Given the description of an element on the screen output the (x, y) to click on. 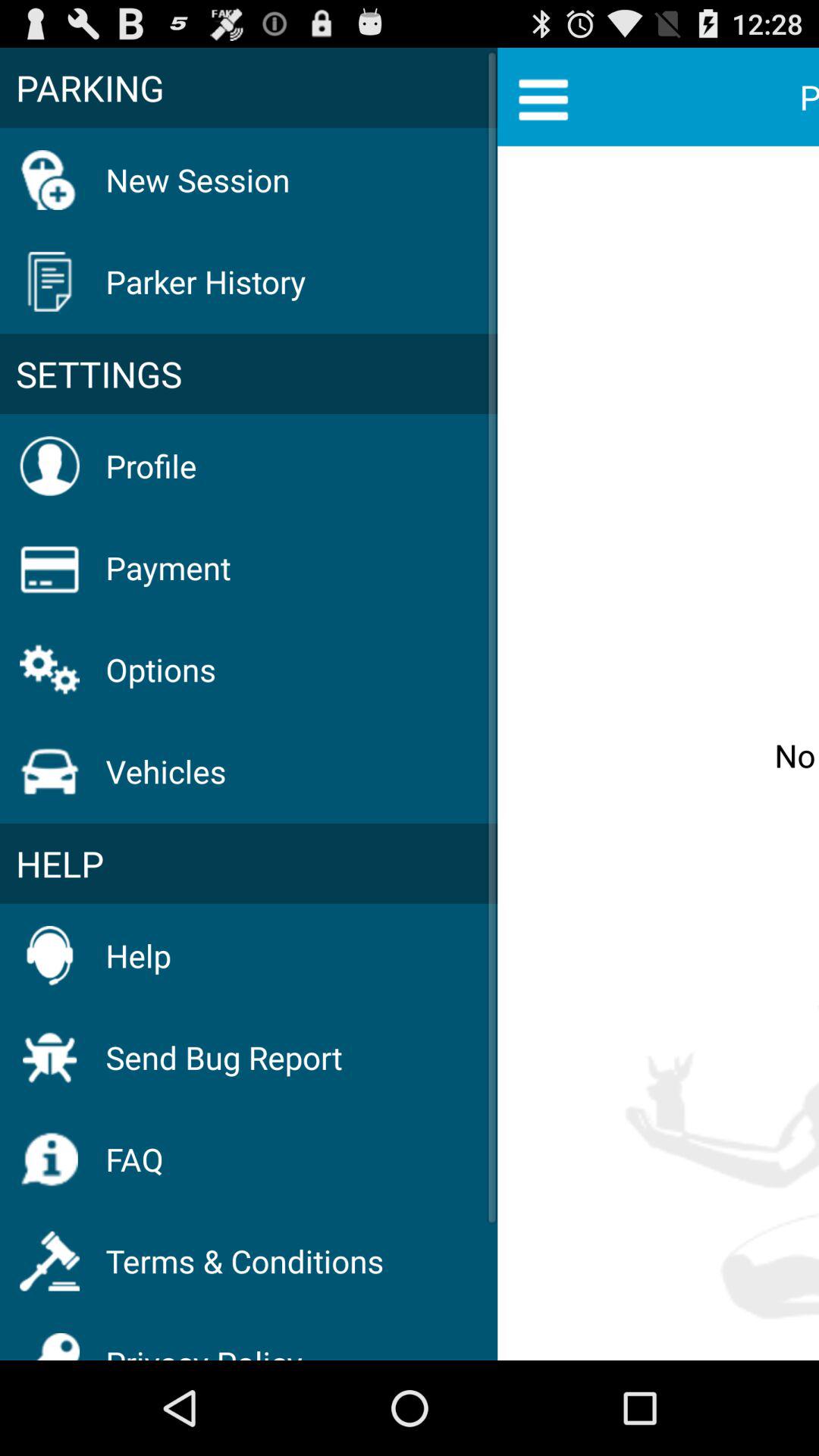
choose the faq item (134, 1158)
